Given the description of an element on the screen output the (x, y) to click on. 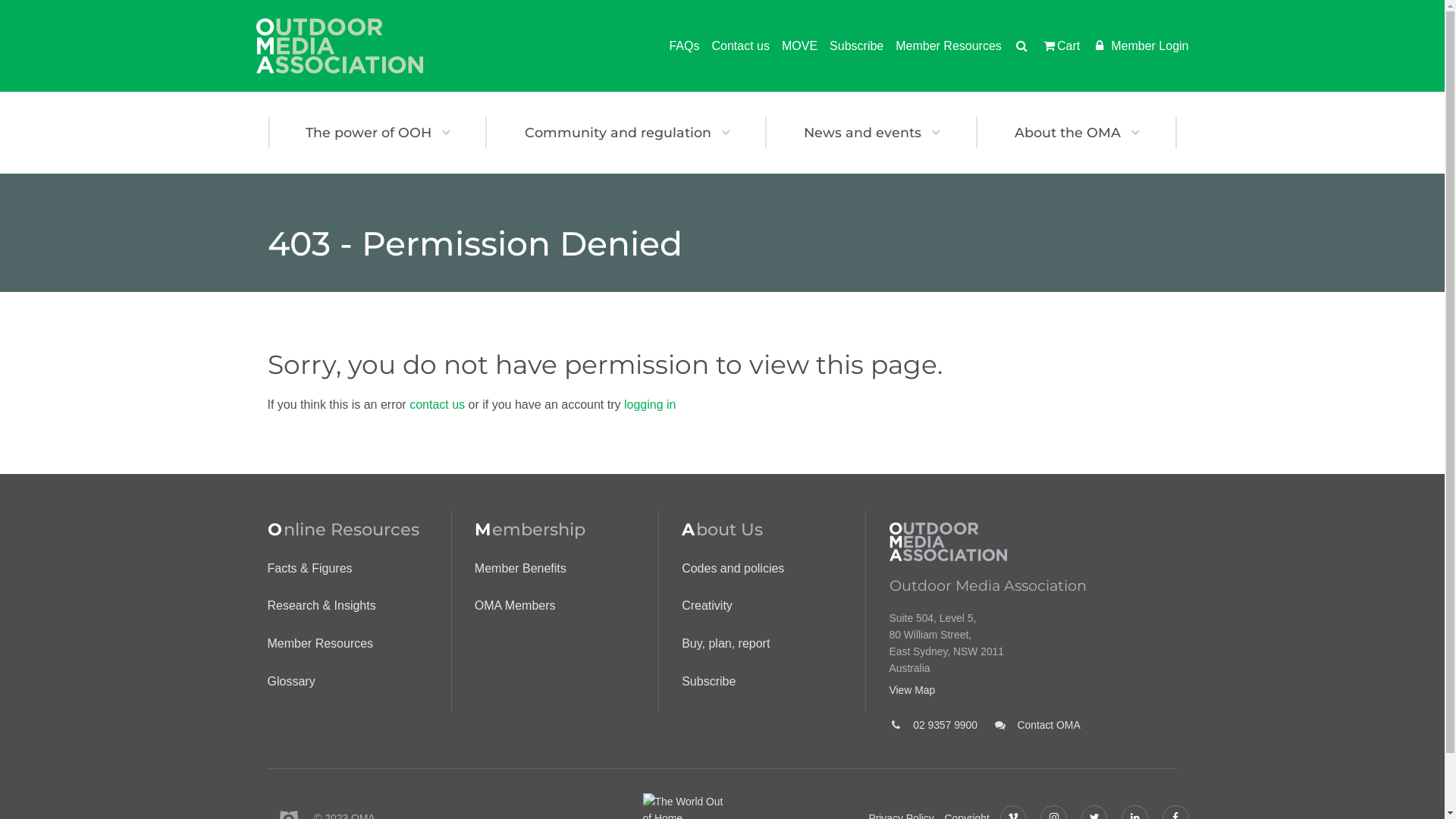
FAQs Element type: text (677, 45)
Glossary Element type: text (290, 680)
Creativity Element type: text (706, 605)
Subscribe Element type: text (708, 680)
Facts & Figures Element type: text (308, 567)
OMA Members Element type: text (514, 605)
Member Login Element type: text (1133, 45)
Cart Element type: text (1054, 45)
Contact us Element type: text (733, 45)
contact us Element type: text (436, 404)
logging in Element type: text (650, 404)
View Map Element type: text (1032, 689)
Community and regulation Element type: text (626, 132)
Buy, plan, report Element type: text (725, 643)
Member Benefits Element type: text (520, 567)
Contact OMA Element type: text (1036, 724)
Member Resources Element type: text (942, 45)
Member Resources Element type: text (319, 643)
Codes and policies Element type: text (732, 567)
The power of OOH Element type: text (377, 132)
Research & Insights Element type: text (320, 605)
About the OMA Element type: text (1076, 132)
News and events Element type: text (871, 132)
MOVE Element type: text (793, 45)
Subscribe Element type: text (850, 45)
02 9357 9900 Element type: text (932, 724)
